Given the description of an element on the screen output the (x, y) to click on. 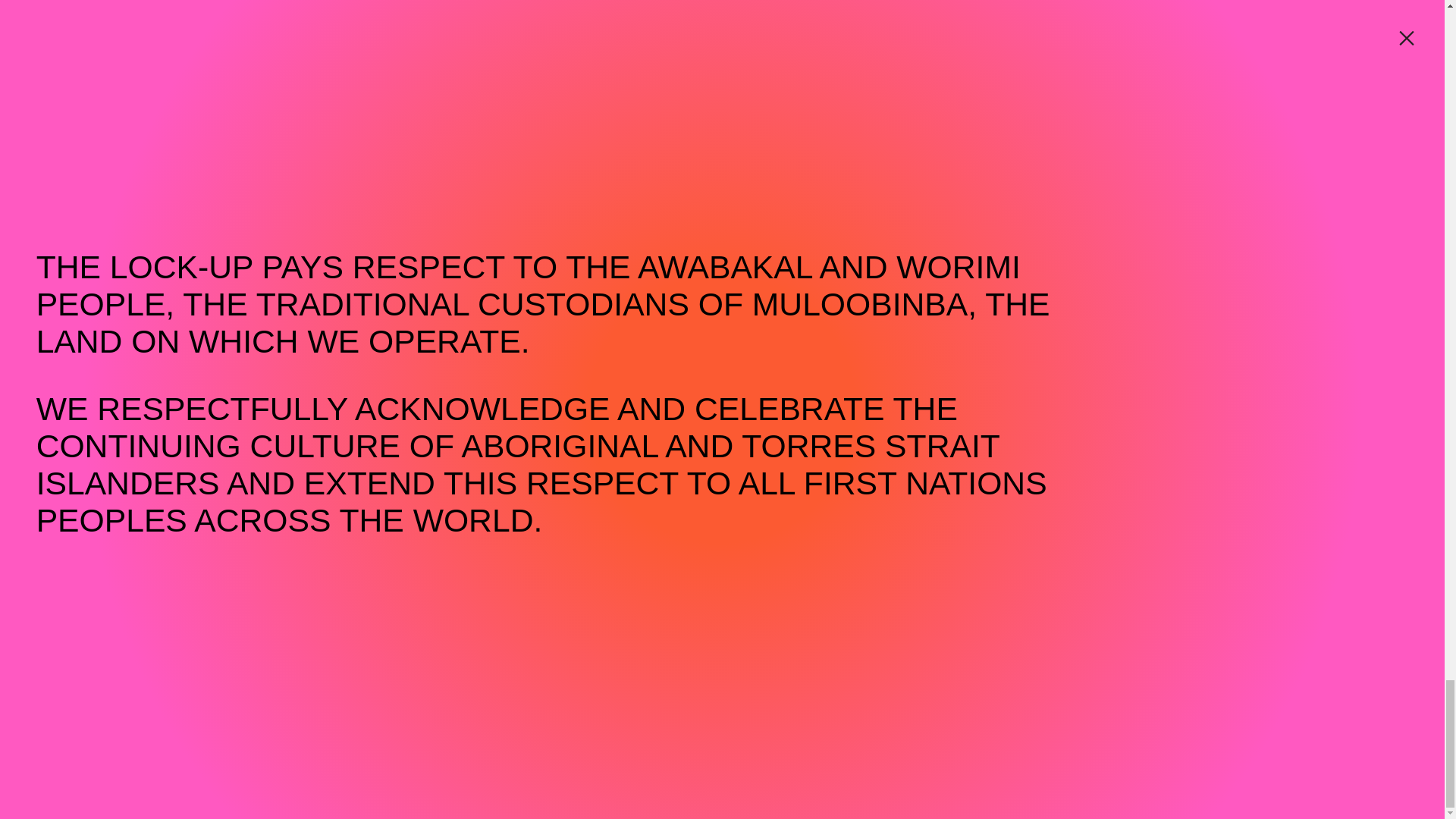
Search (1327, 490)
